Given the description of an element on the screen output the (x, y) to click on. 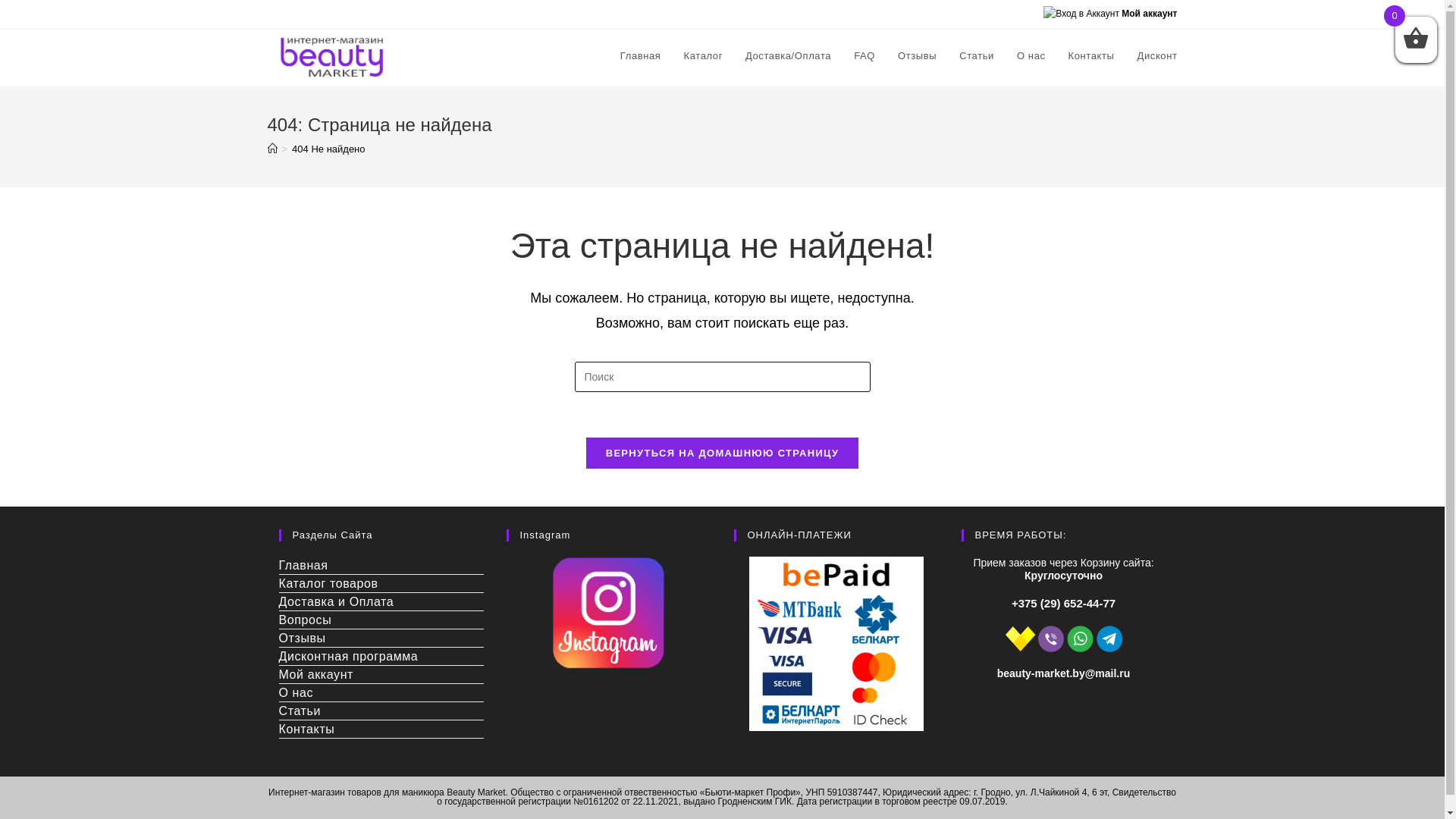
+375 (29) 652-44-77 Element type: text (1063, 602)
FAQ Element type: text (864, 55)
